Given the description of an element on the screen output the (x, y) to click on. 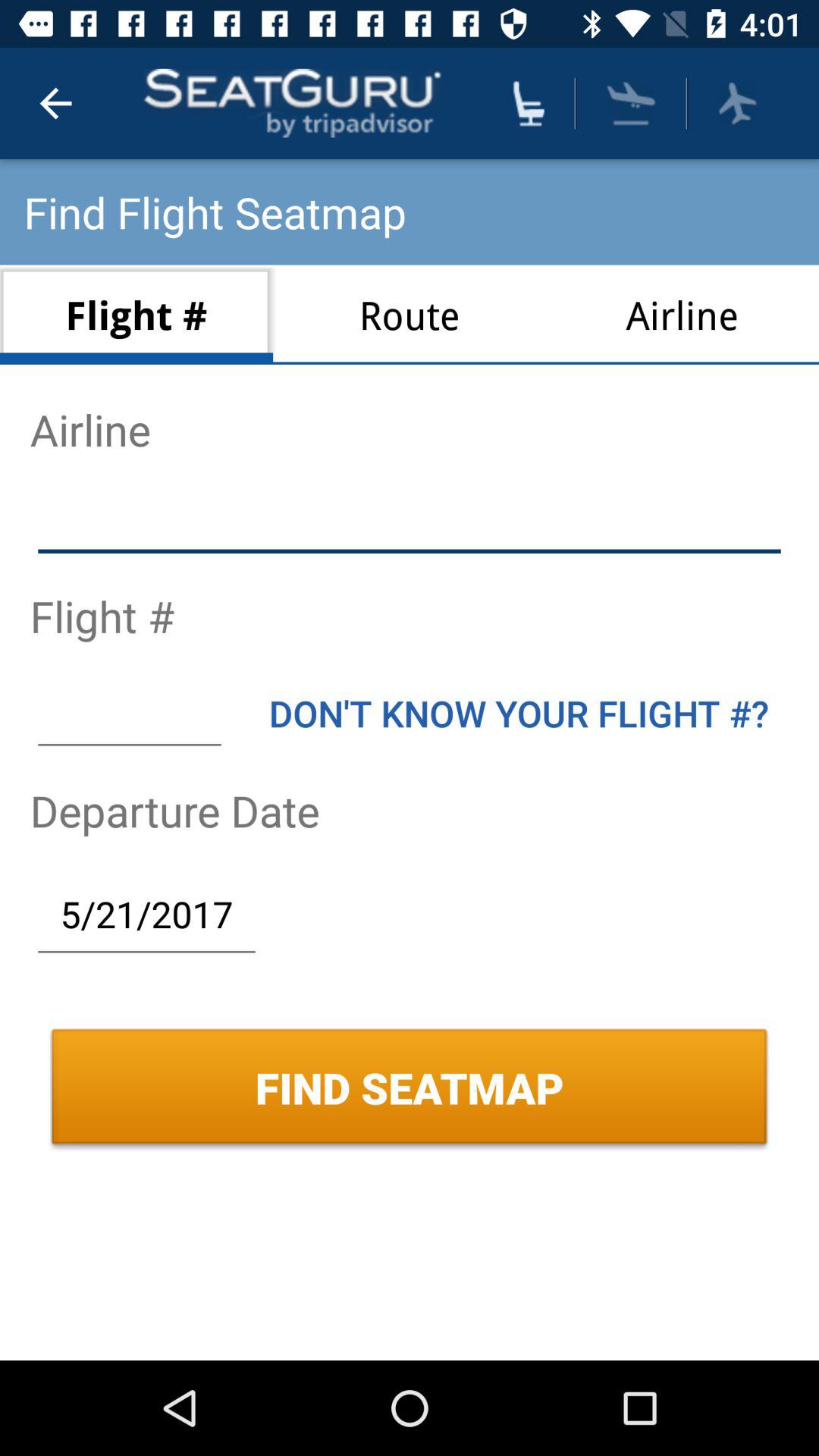
press the item above find seatmap icon (146, 913)
